Given the description of an element on the screen output the (x, y) to click on. 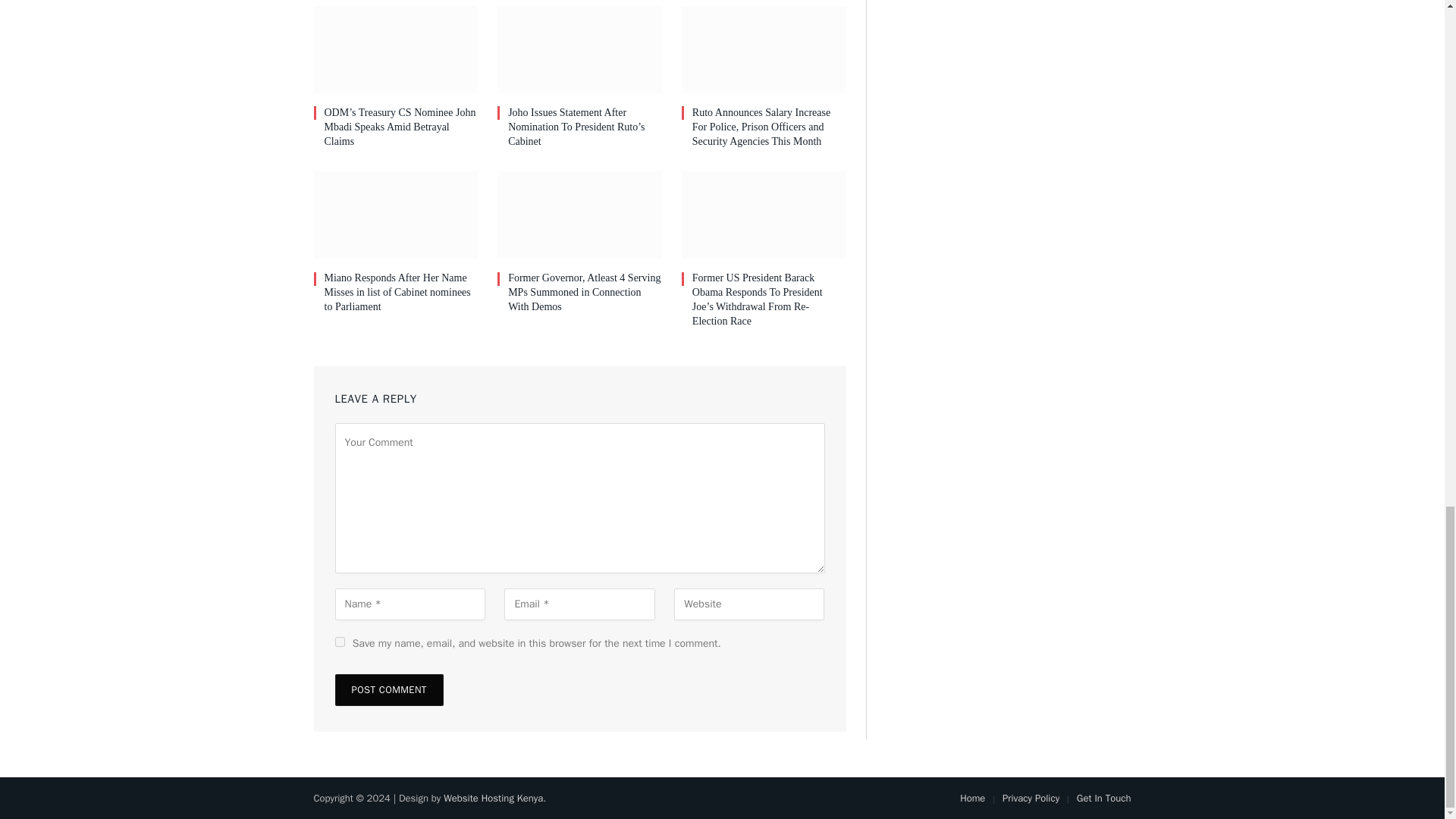
Post Comment (389, 689)
yes (339, 642)
